Given the description of an element on the screen output the (x, y) to click on. 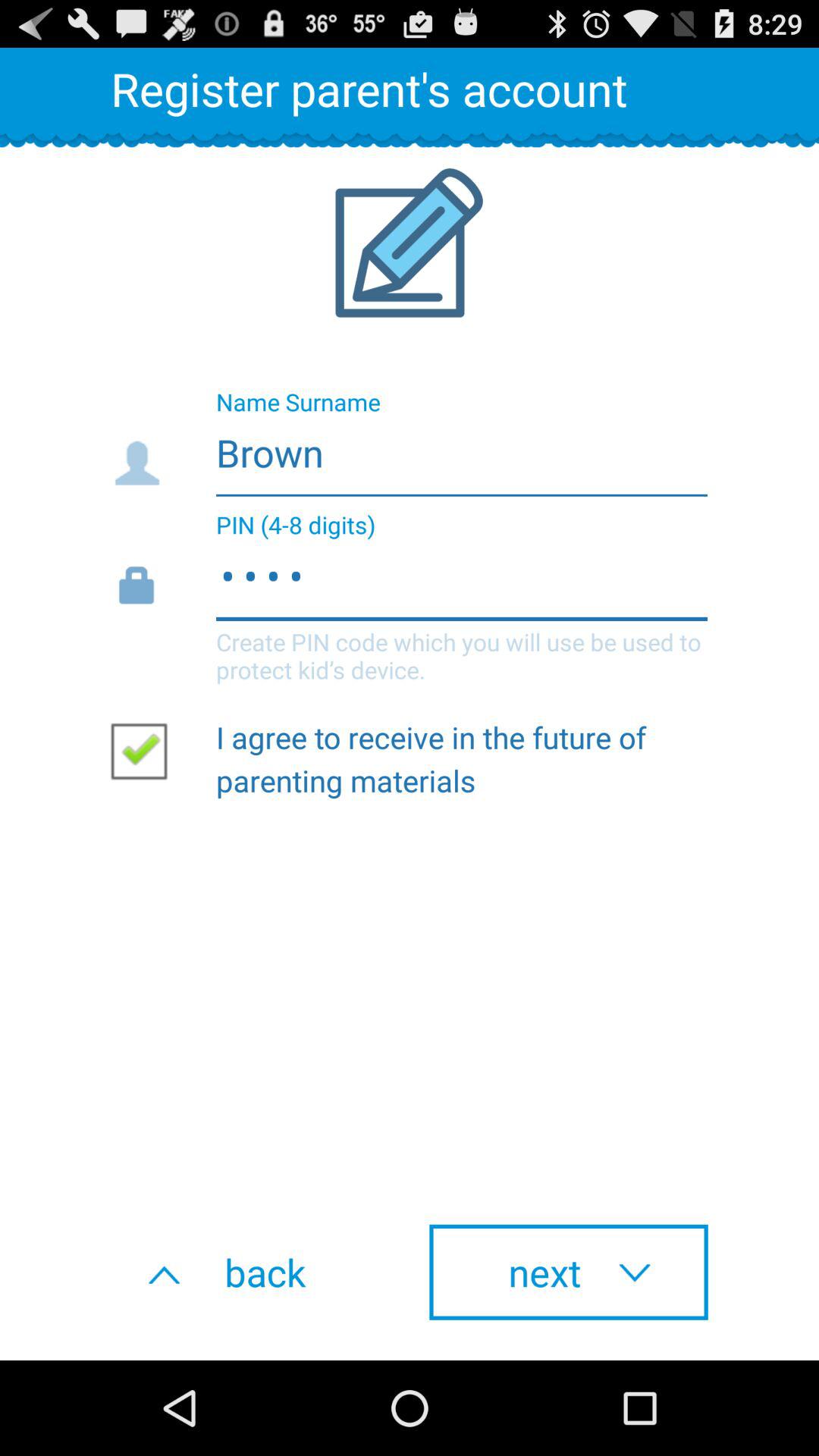
click button next to next item (249, 1272)
